Given the description of an element on the screen output the (x, y) to click on. 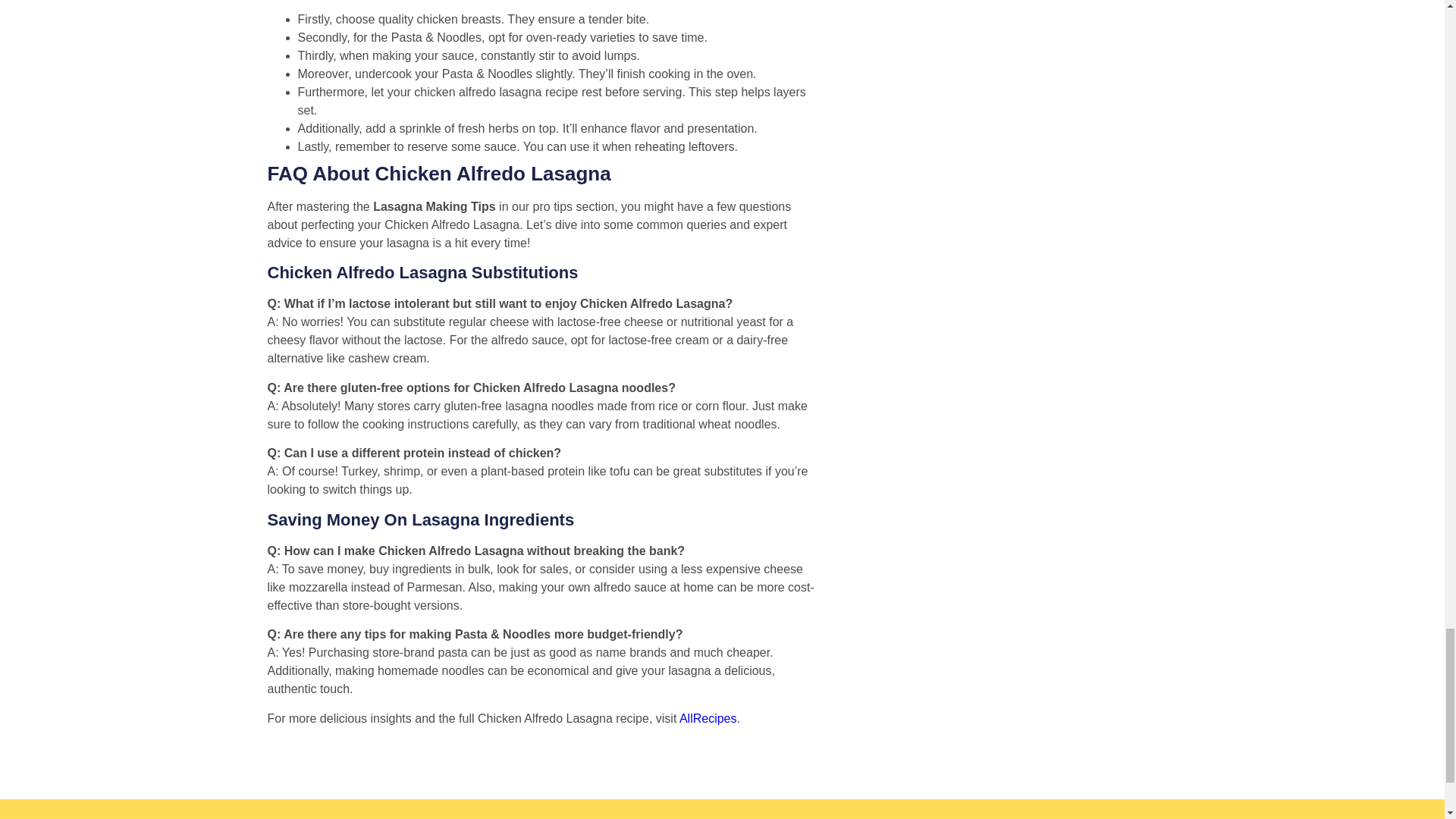
AllRecipes (707, 717)
